Given the description of an element on the screen output the (x, y) to click on. 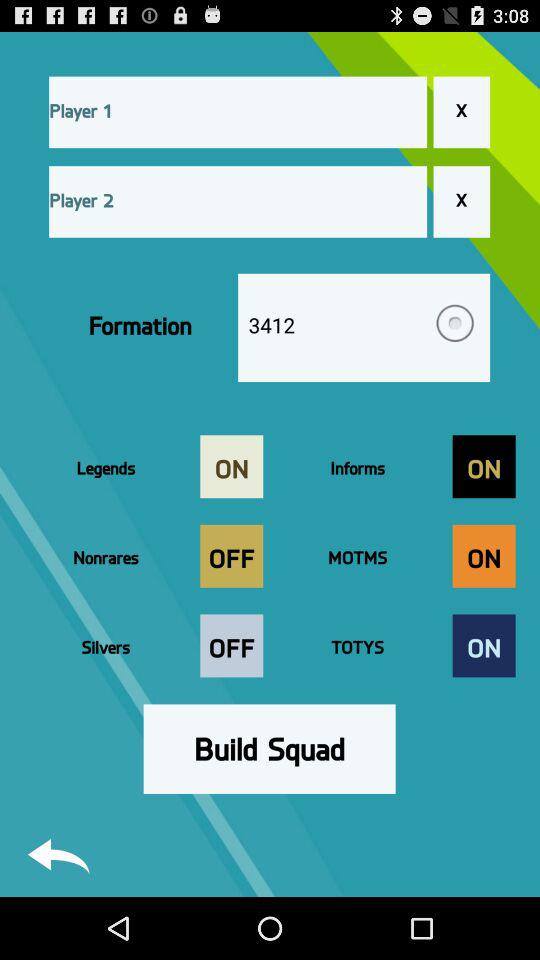
enter player 1 (238, 111)
